Given the description of an element on the screen output the (x, y) to click on. 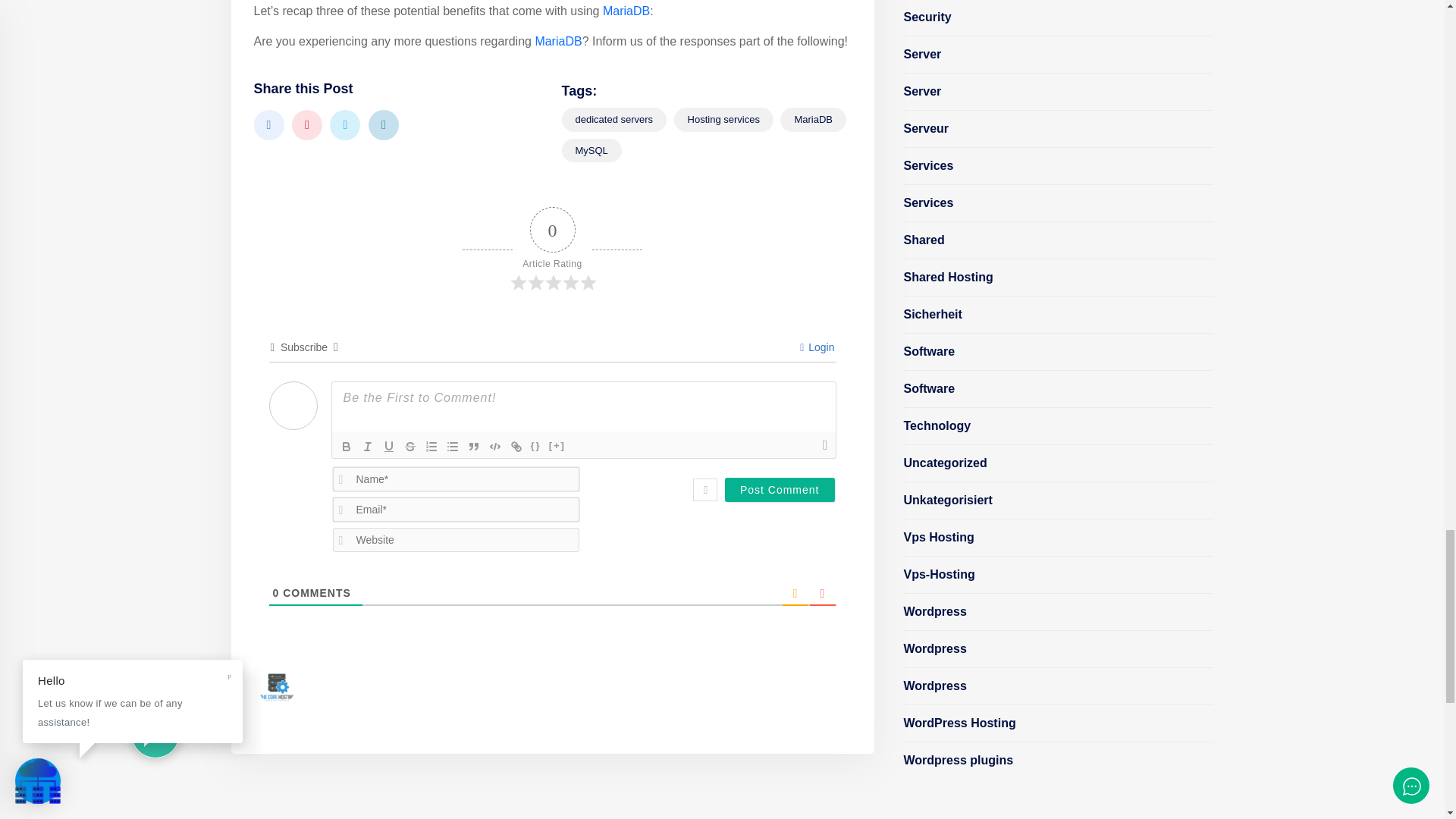
Blockquote (473, 446)
Ordered List (430, 446)
Post Comment (779, 489)
Unordered List (452, 446)
Underline (387, 446)
Link (515, 446)
Source Code (534, 446)
Spoiler (556, 446)
Bold (345, 446)
Italic (366, 446)
Code Block (494, 446)
Strike (409, 446)
